Given the description of an element on the screen output the (x, y) to click on. 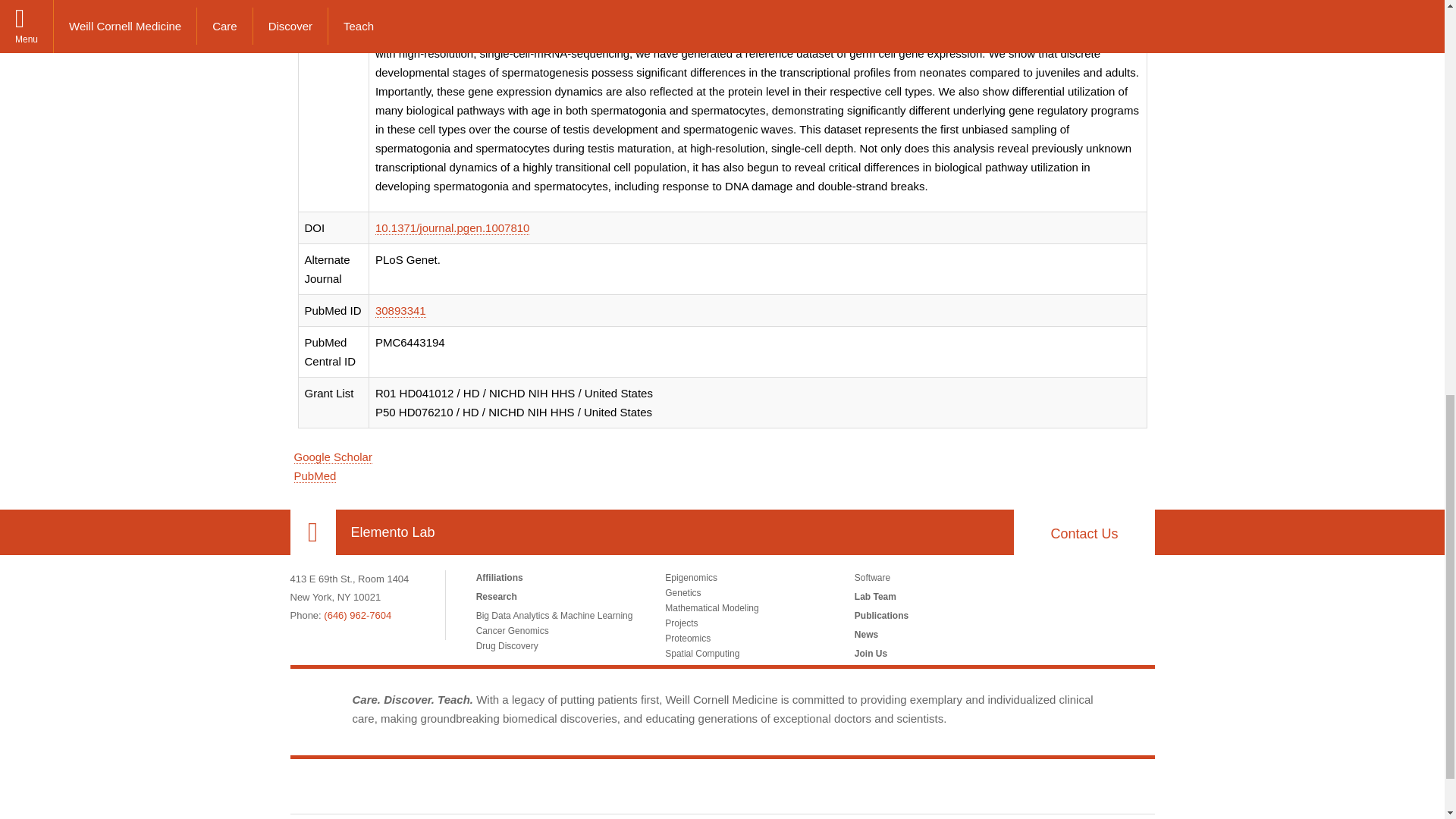
Click to search Google Scholar for this entry (333, 457)
Click to view the PubMed listing for this node (315, 476)
